Given the description of an element on the screen output the (x, y) to click on. 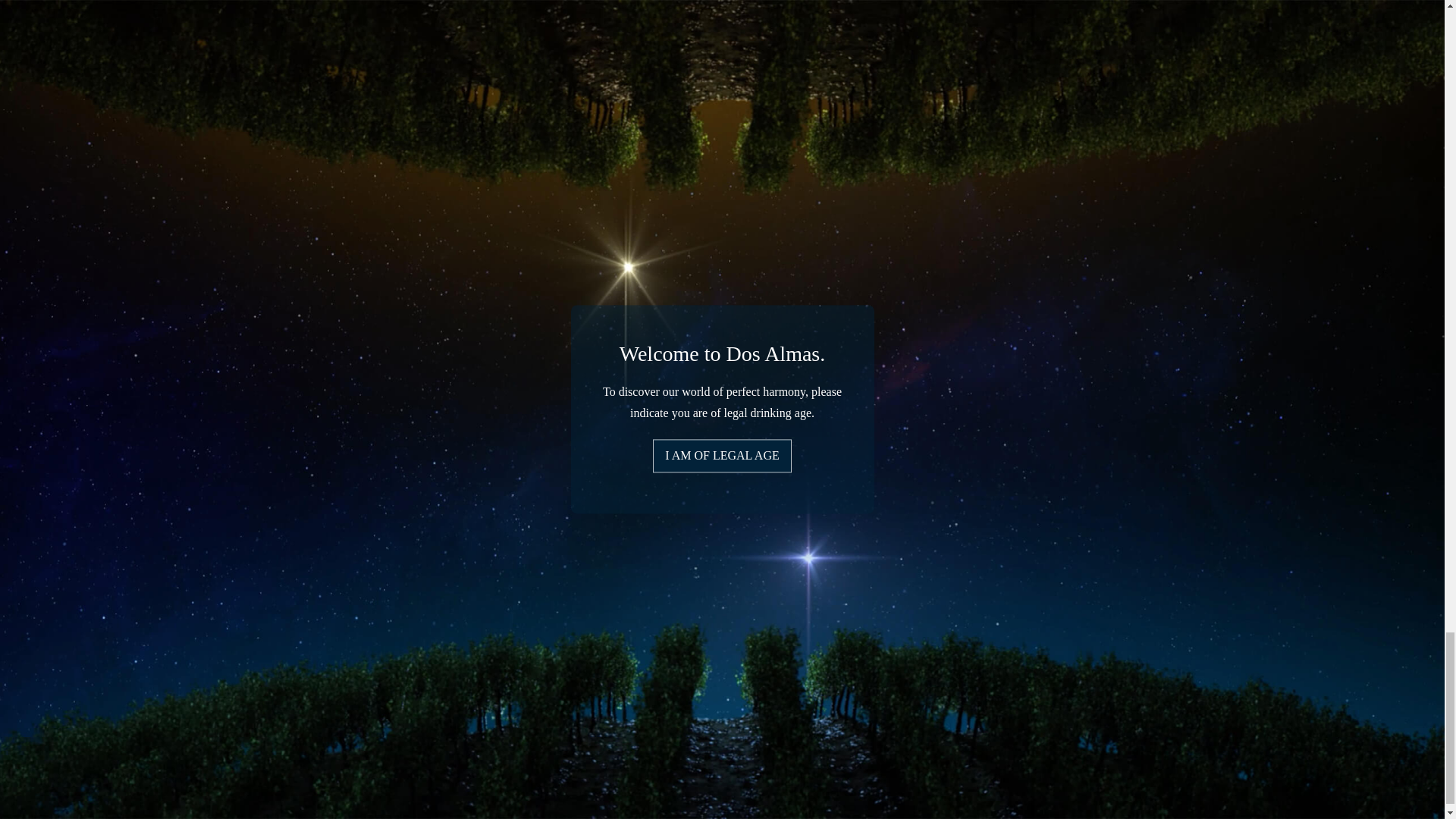
Really Simple Syndication (47, 457)
Really Simple Syndication (66, 473)
